Given the description of an element on the screen output the (x, y) to click on. 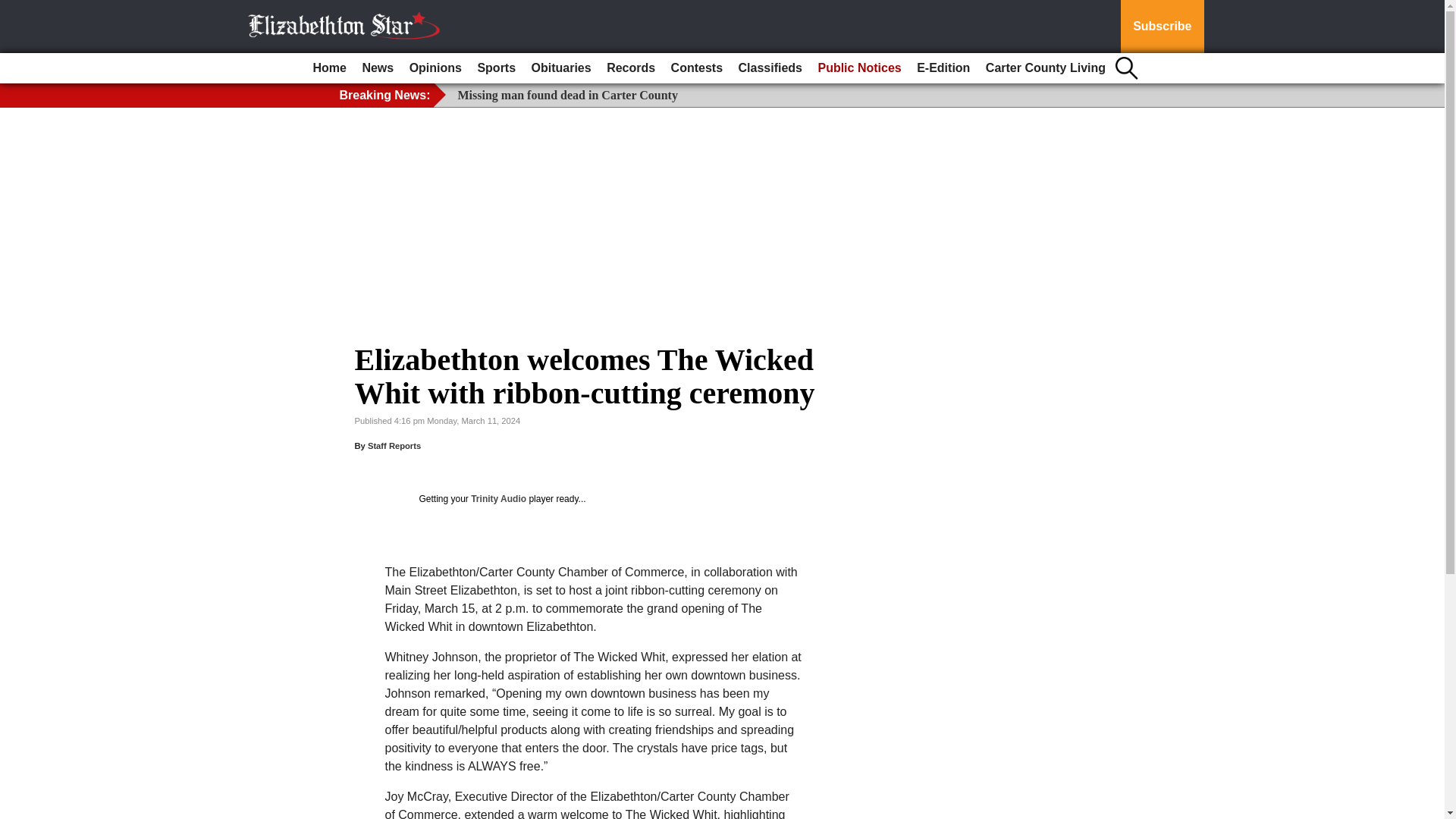
Opinions (435, 68)
Go (13, 9)
Missing man found dead in Carter County (568, 94)
Contests (697, 68)
Sports (495, 68)
E-Edition (943, 68)
Trinity Audio (497, 498)
Carter County Living (1045, 68)
Missing man found dead in Carter County (568, 94)
Public Notices (858, 68)
